Given the description of an element on the screen output the (x, y) to click on. 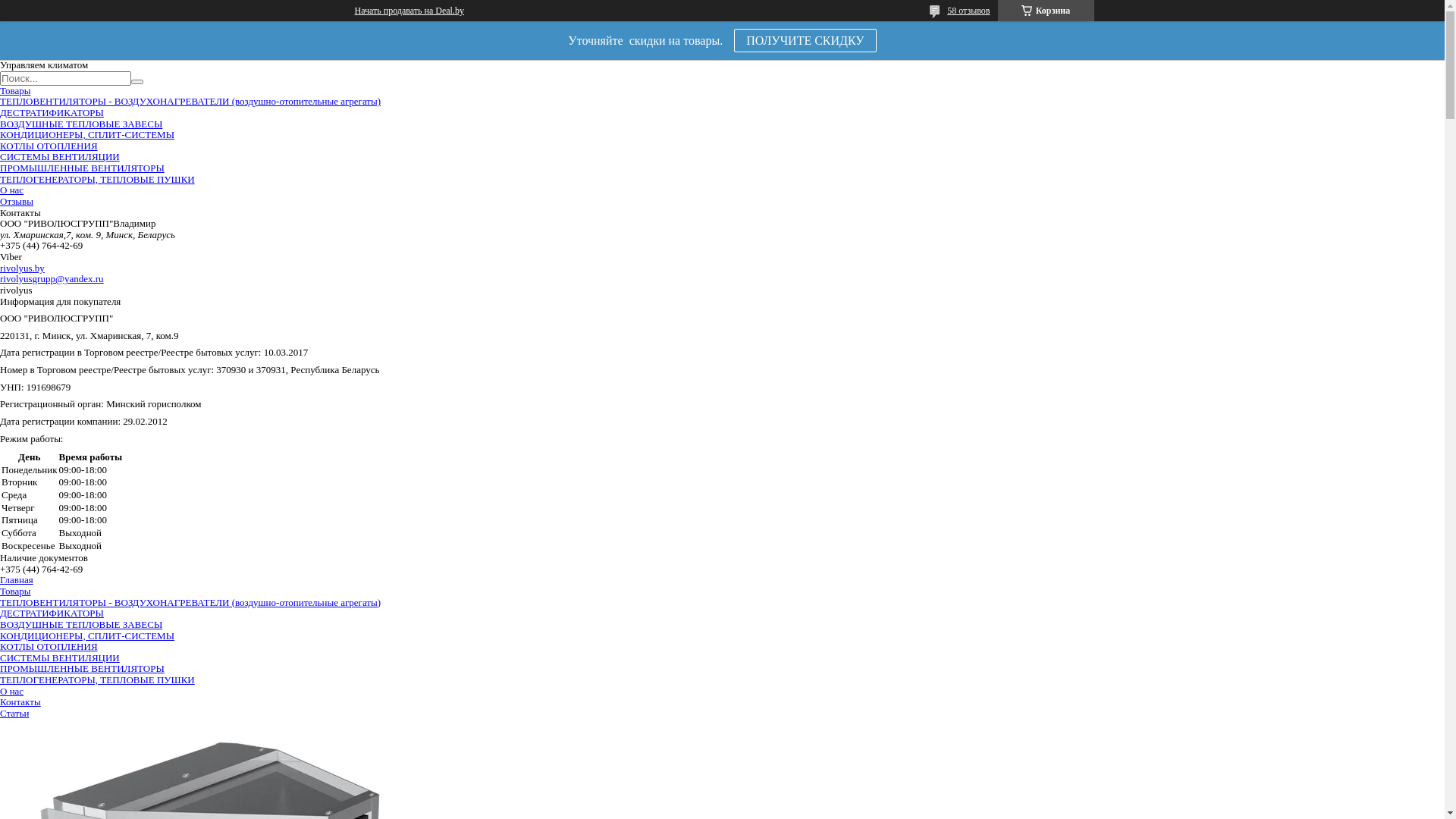
rivolyus.by Element type: text (22, 267)
rivolyusgrupp@yandex.ru Element type: text (51, 278)
